Given the description of an element on the screen output the (x, y) to click on. 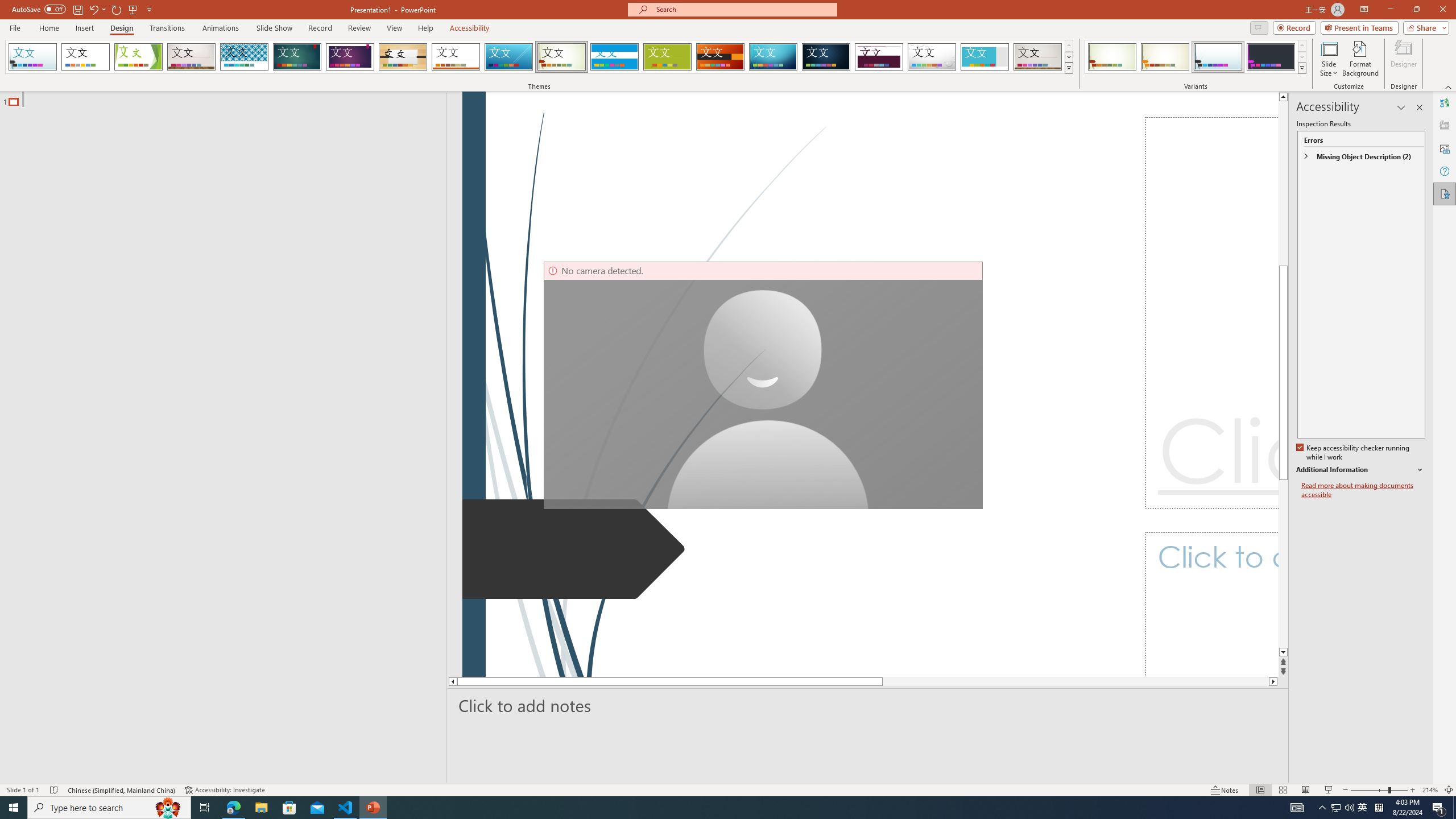
Office Theme (85, 56)
Facet (138, 56)
Circuit (772, 56)
